Given the description of an element on the screen output the (x, y) to click on. 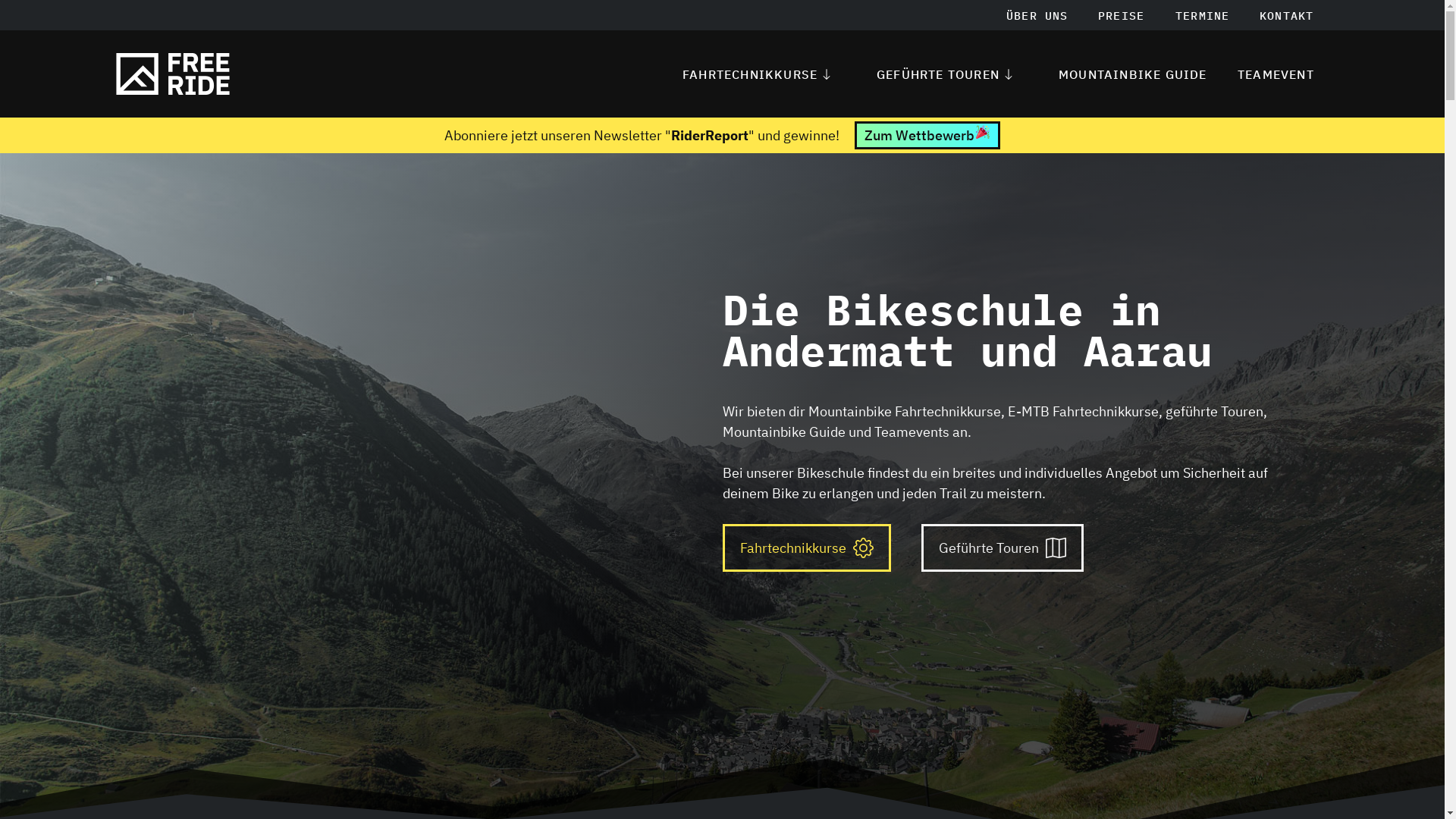
MOUNTAINBIKE GUIDE Element type: text (1132, 74)
FAHRTECHNIKKURSE Element type: text (764, 74)
KONTAKT Element type: text (1286, 15)
TERMINE Element type: text (1202, 15)
PREISE Element type: text (1120, 15)
Fahrtechnikkurse Element type: text (805, 547)
TEAMEVENT Element type: text (1275, 74)
Zum Wettbewerb Element type: text (927, 135)
